Given the description of an element on the screen output the (x, y) to click on. 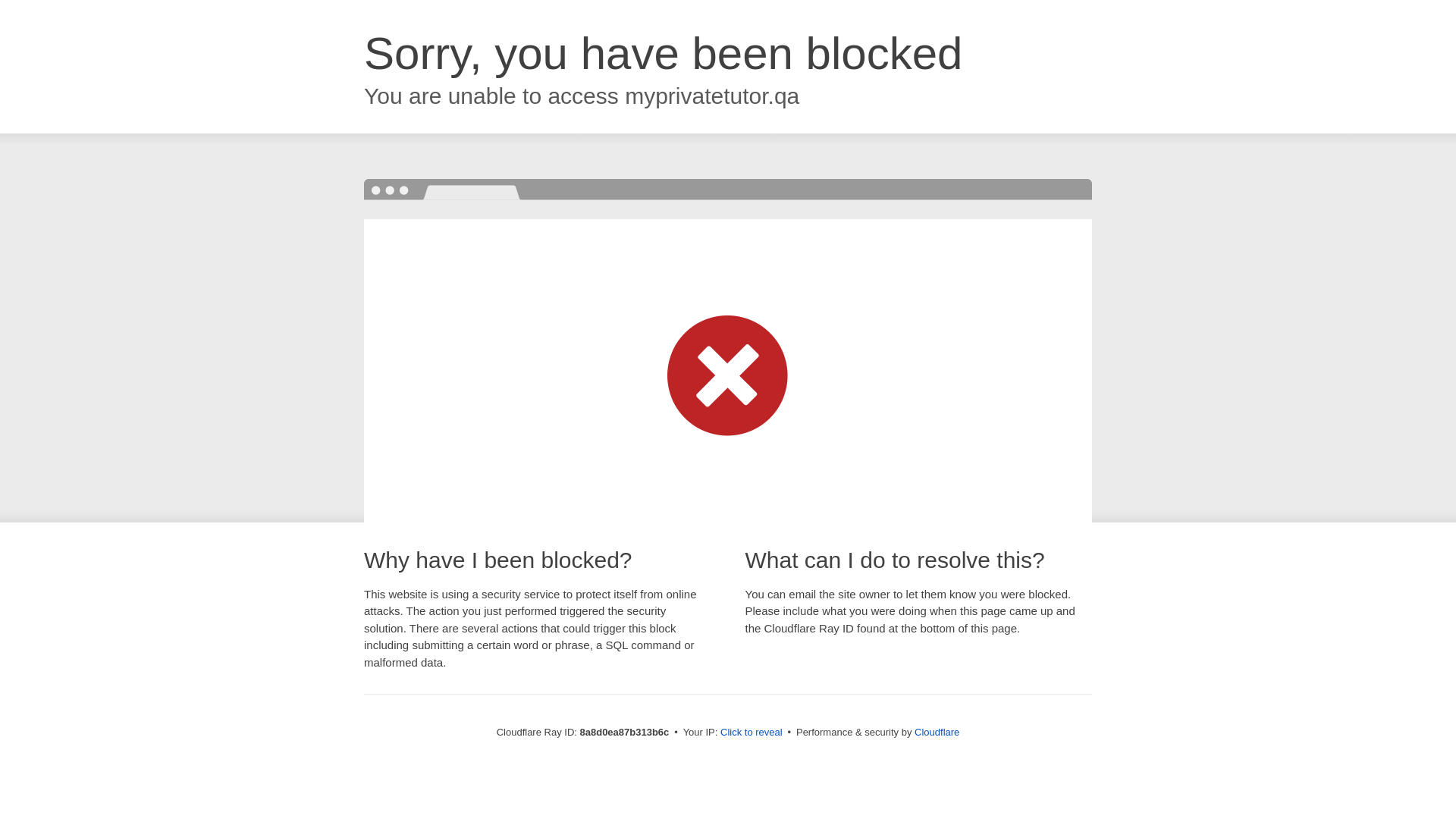
Click to reveal (751, 732)
Cloudflare (936, 731)
